Given the description of an element on the screen output the (x, y) to click on. 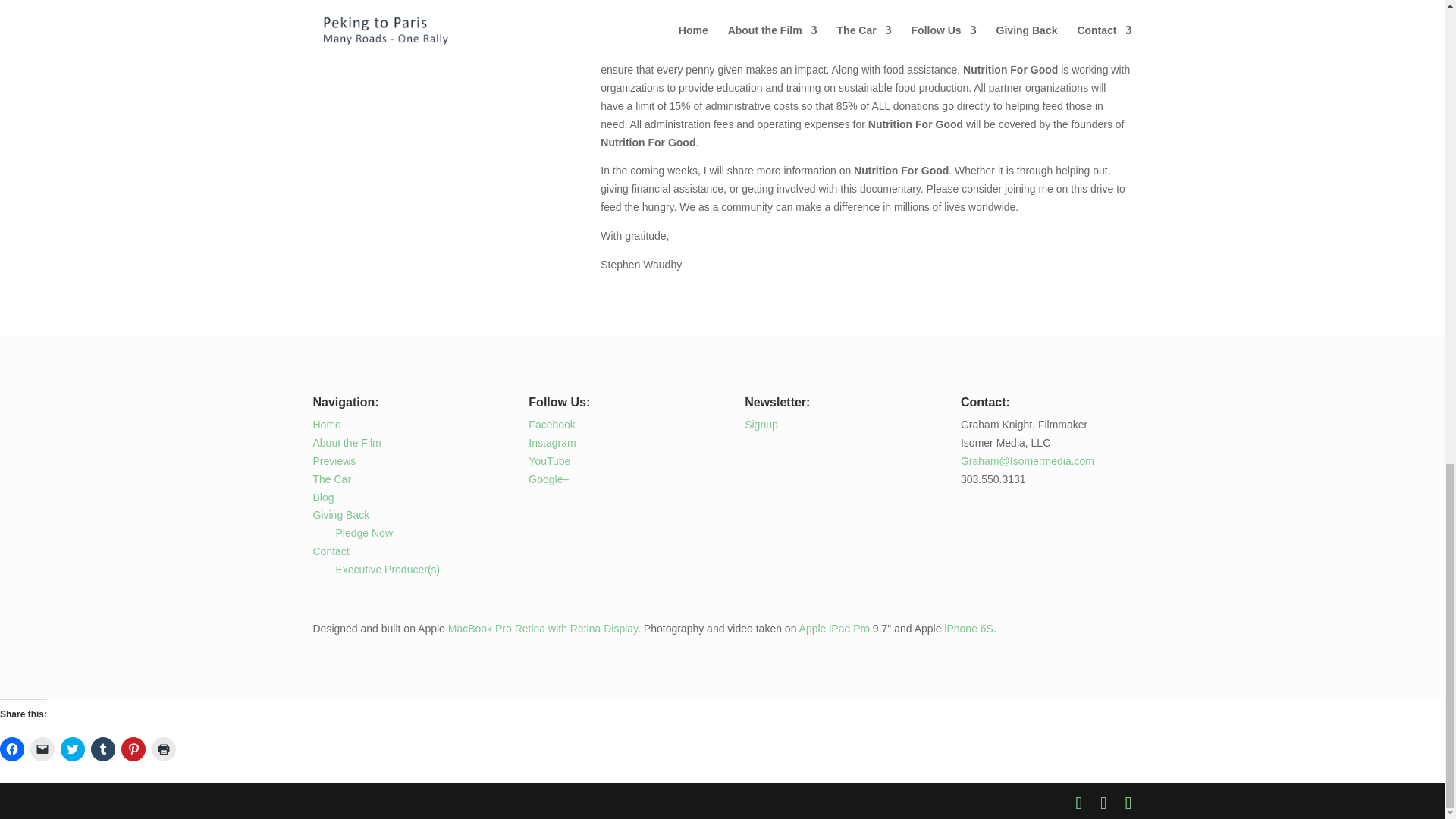
Click to share on Pinterest (132, 749)
The Car (331, 479)
Previews (334, 460)
Click to share on Facebook (12, 749)
Click to print (163, 749)
Click to share on Tumblr (102, 749)
Click to email a link to a friend (42, 749)
Home (326, 424)
Click to share on Twitter (72, 749)
About the Film (346, 442)
